Given the description of an element on the screen output the (x, y) to click on. 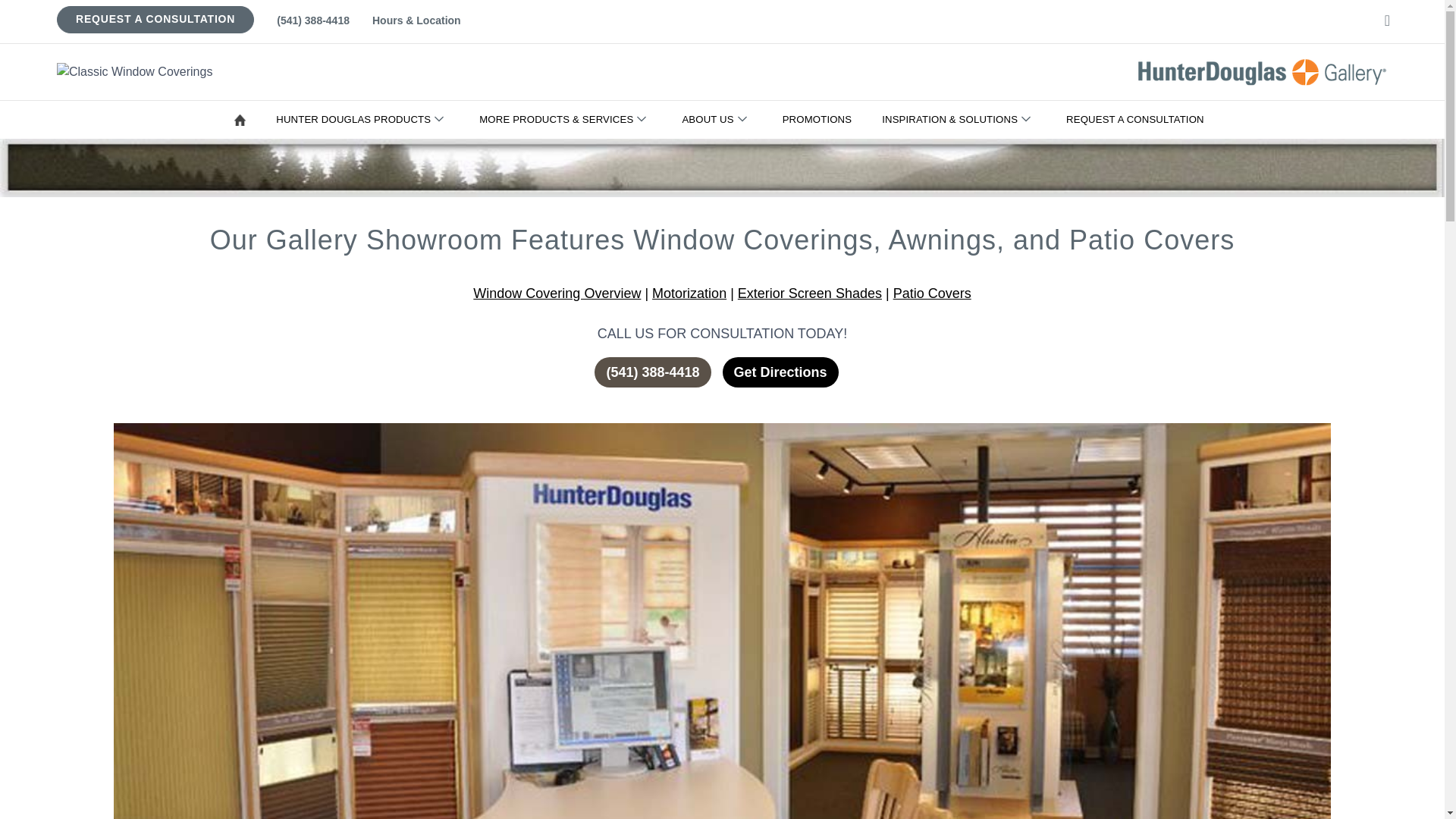
REQUEST A CONSULTATION (1138, 119)
ABOUT US (719, 119)
PROMOTIONS (820, 119)
REQUEST A CONSULTATION (155, 18)
HUNTER DOUGLAS PRODUCTS (365, 119)
